Given the description of an element on the screen output the (x, y) to click on. 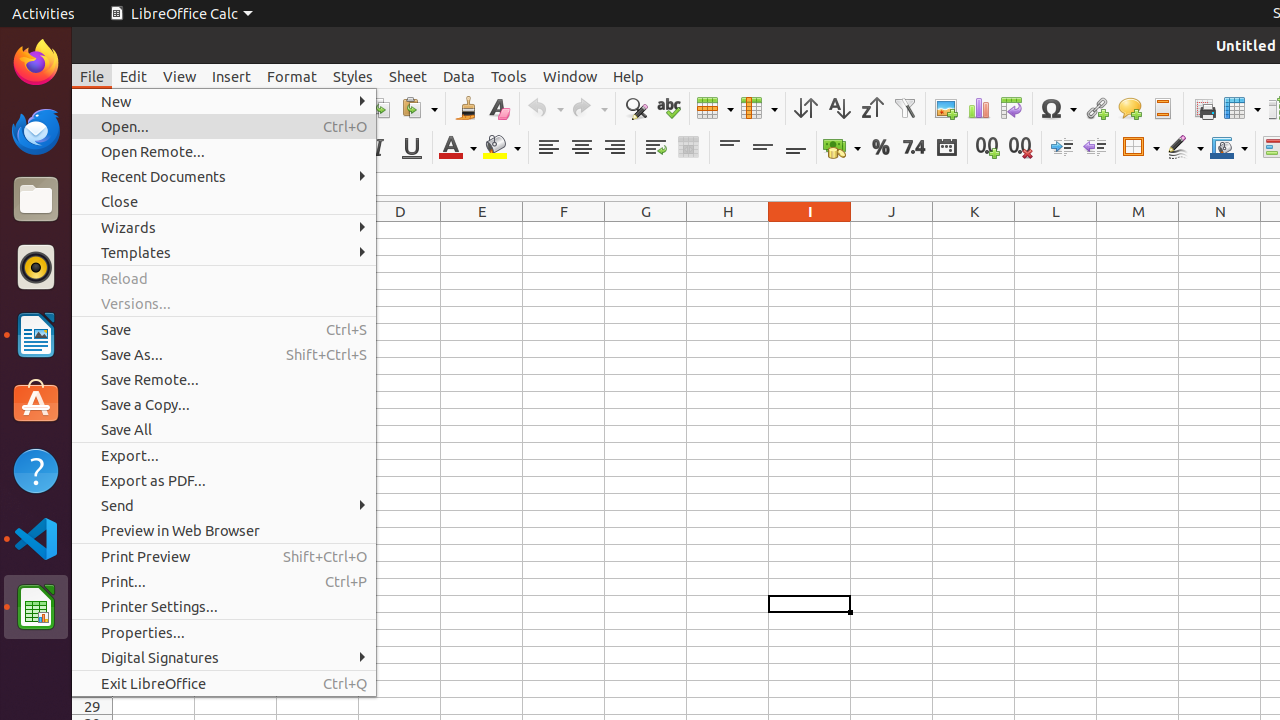
Delete Decimal Place Element type: push-button (1020, 147)
E1 Element type: table-cell (482, 230)
Clear Element type: push-button (498, 108)
Sheet Element type: menu (408, 76)
Chart Element type: push-button (978, 108)
